Given the description of an element on the screen output the (x, y) to click on. 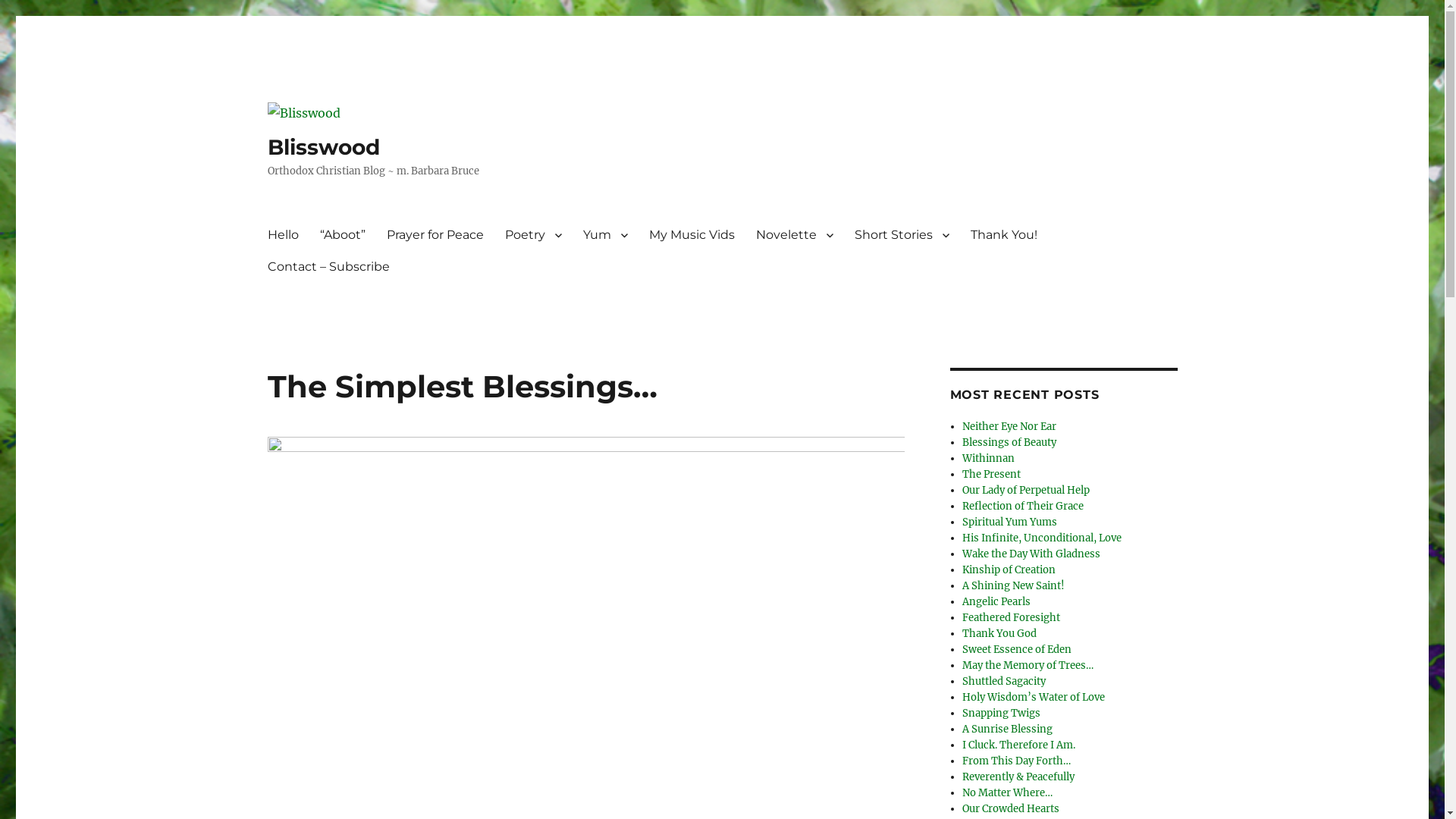
Reflection of Their Grace Element type: text (1022, 505)
Kinship of Creation Element type: text (1008, 569)
Blisswood Element type: text (322, 147)
Sweet Essence of Eden Element type: text (1016, 649)
My Music Vids Element type: text (691, 235)
Angelic Pearls Element type: text (996, 601)
Novelette Element type: text (793, 235)
Reverently & Peacefully Element type: text (1018, 776)
Snapping Twigs Element type: text (1001, 712)
Prayer for Peace Element type: text (435, 235)
His Infinite, Unconditional, Love Element type: text (1041, 537)
Thank You God Element type: text (999, 633)
Thank You! Element type: text (1004, 235)
Our Crowded Hearts Element type: text (1010, 808)
Yum Element type: text (604, 235)
Hello Element type: text (282, 235)
Spiritual Yum Yums Element type: text (1009, 521)
Neither Eye Nor Ear Element type: text (1009, 426)
Withinnan Element type: text (988, 457)
Blessings of Beauty Element type: text (1009, 442)
Our Lady of Perpetual Help Element type: text (1025, 489)
A Sunrise Blessing Element type: text (1007, 728)
Short Stories Element type: text (901, 235)
Feathered Foresight Element type: text (1011, 617)
A Shining New Saint! Element type: text (1013, 585)
Shuttled Sagacity Element type: text (1003, 680)
Poetry Element type: text (533, 235)
I Cluck. Therefore I Am. Element type: text (1018, 744)
The Present Element type: text (991, 473)
Wake the Day With Gladness Element type: text (1031, 553)
